Given the description of an element on the screen output the (x, y) to click on. 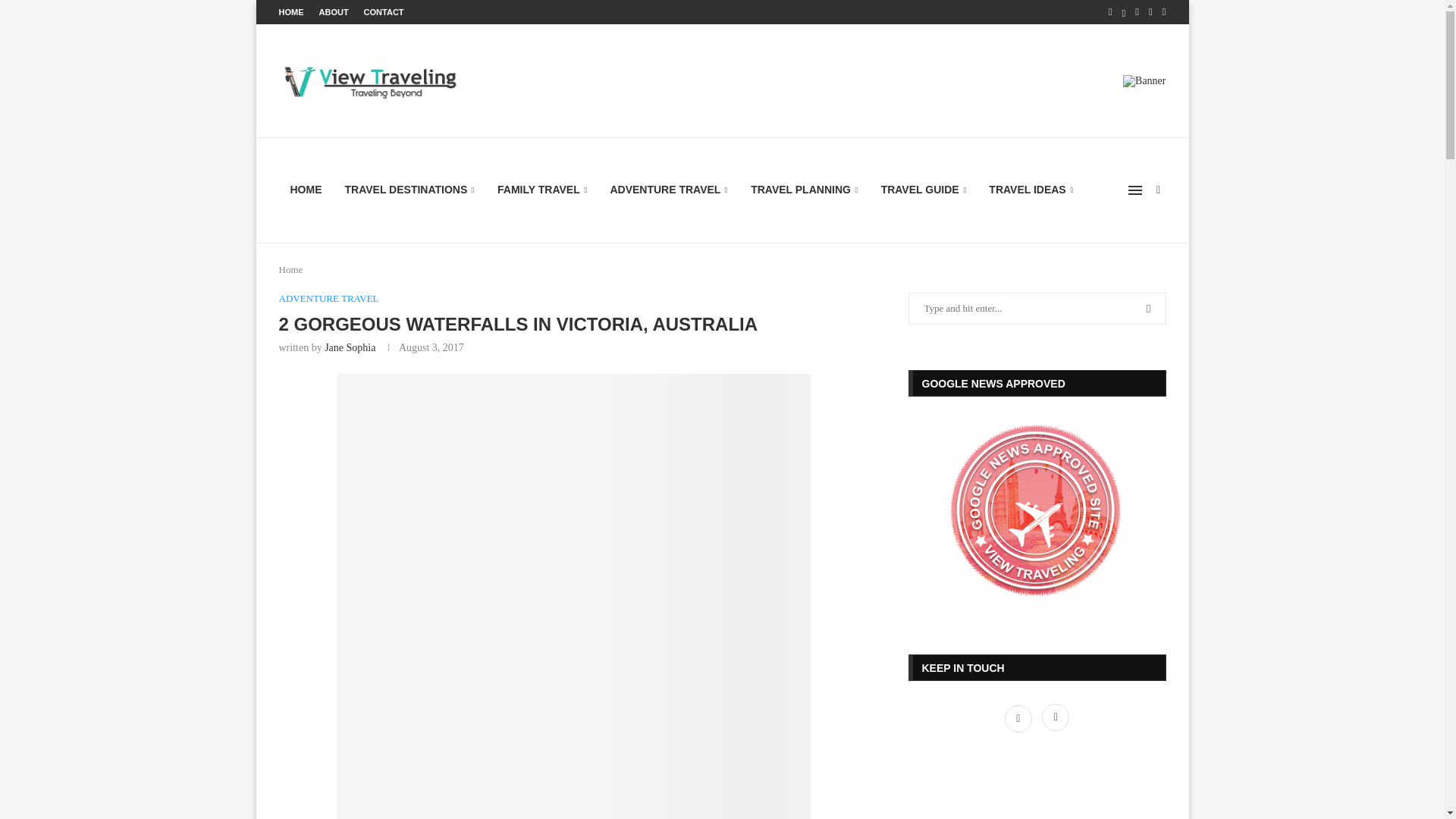
ADVENTURE TRAVEL (328, 298)
Jane Sophia (349, 347)
TRAVEL DESTINATIONS (409, 189)
TRAVEL GUIDE (923, 189)
TRAVEL IDEAS (1030, 189)
TRAVEL PLANNING (804, 189)
Home (290, 269)
FAMILY TRAVEL (542, 189)
ABOUT (332, 12)
CONTACT (384, 12)
HOME (291, 12)
ADVENTURE TRAVEL (668, 189)
